Given the description of an element on the screen output the (x, y) to click on. 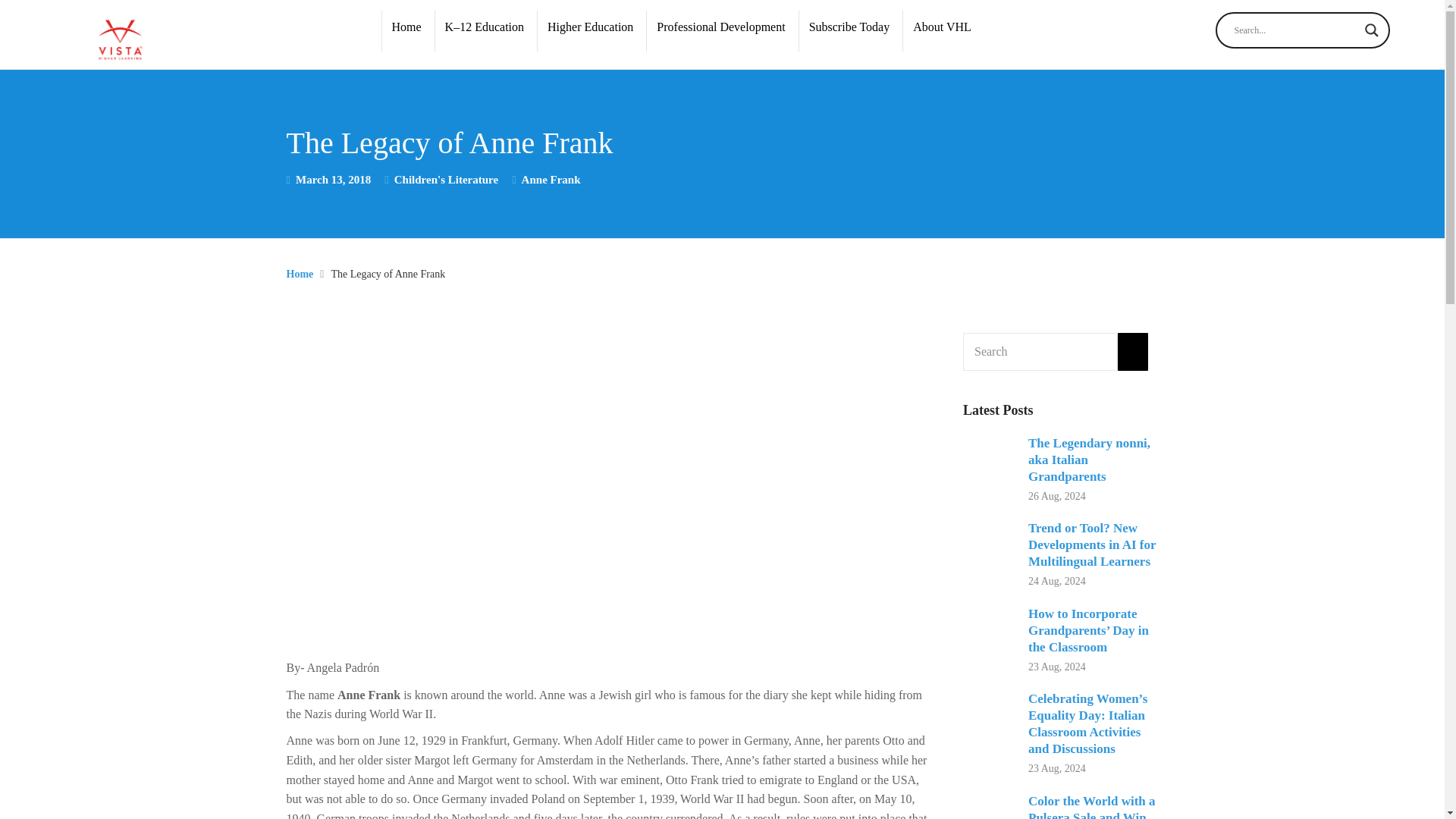
The Legendary nonni, aka Italian Grandparents (1088, 459)
Home (405, 25)
Permalink to The Legacy of Anne Frank (333, 179)
The Legendary nonni, aka Italian Grandparents (989, 462)
